Given the description of an element on the screen output the (x, y) to click on. 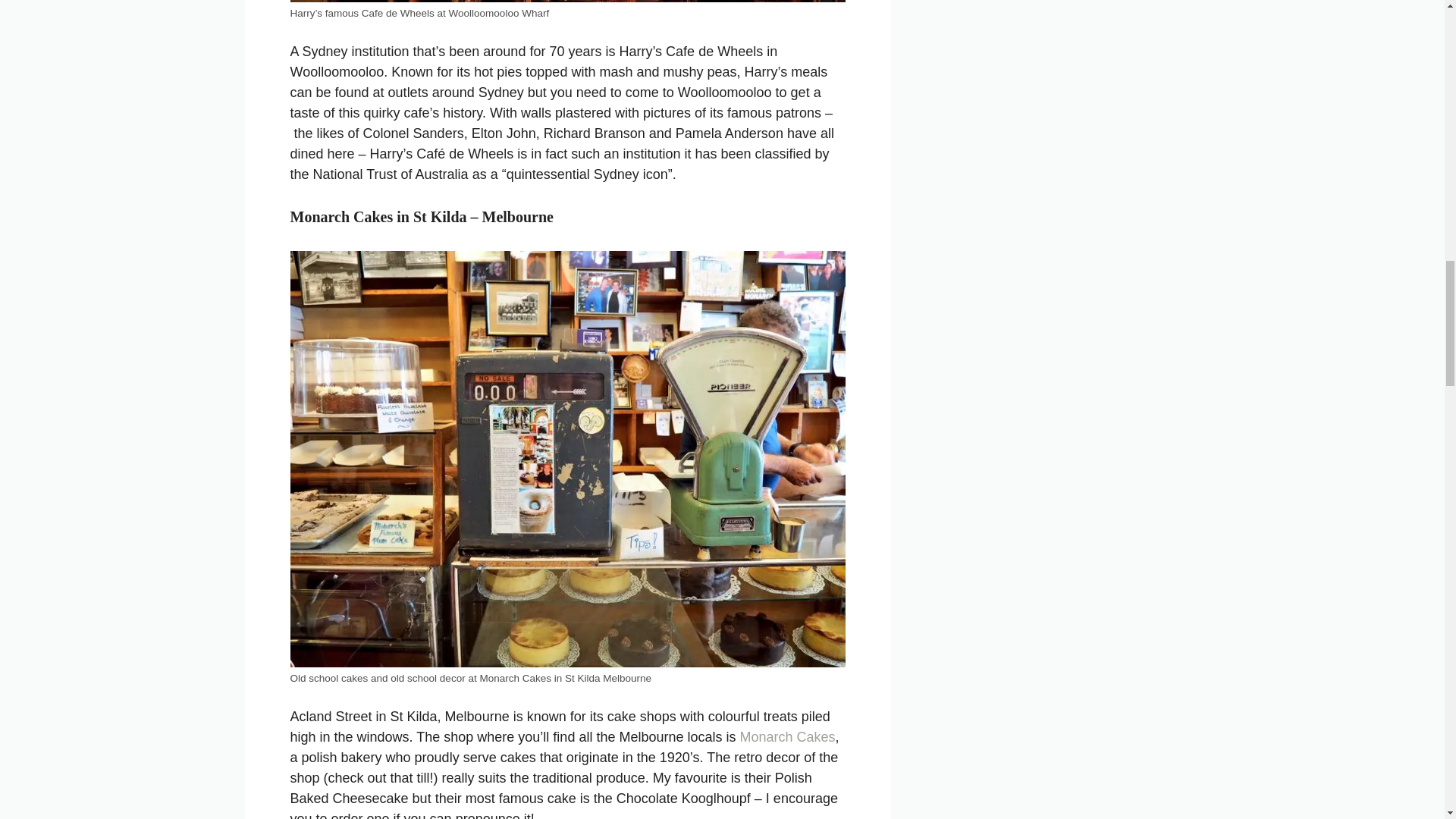
Monarch Cakes (787, 736)
